Given the description of an element on the screen output the (x, y) to click on. 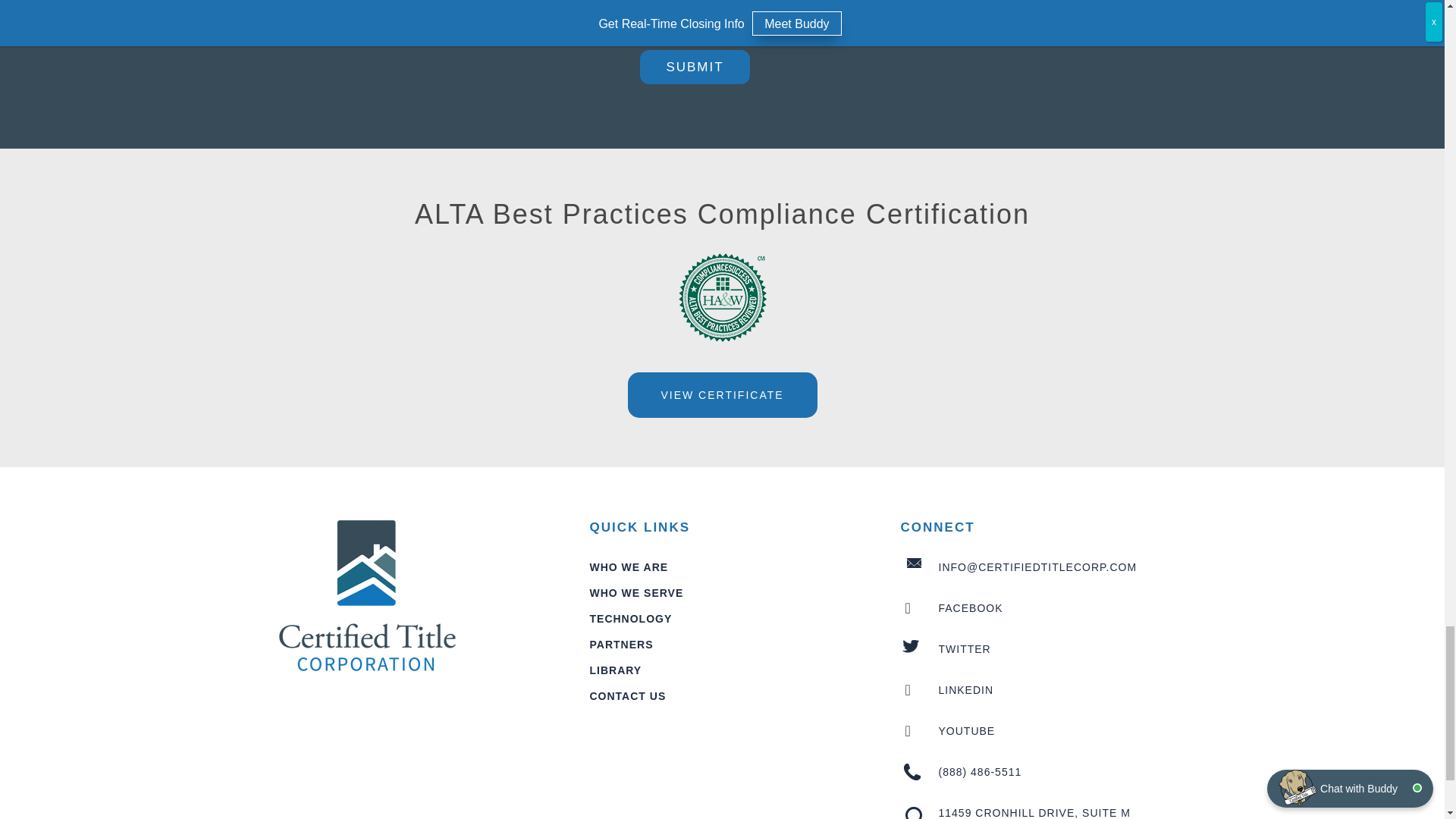
Submit (694, 66)
